Given the description of an element on the screen output the (x, y) to click on. 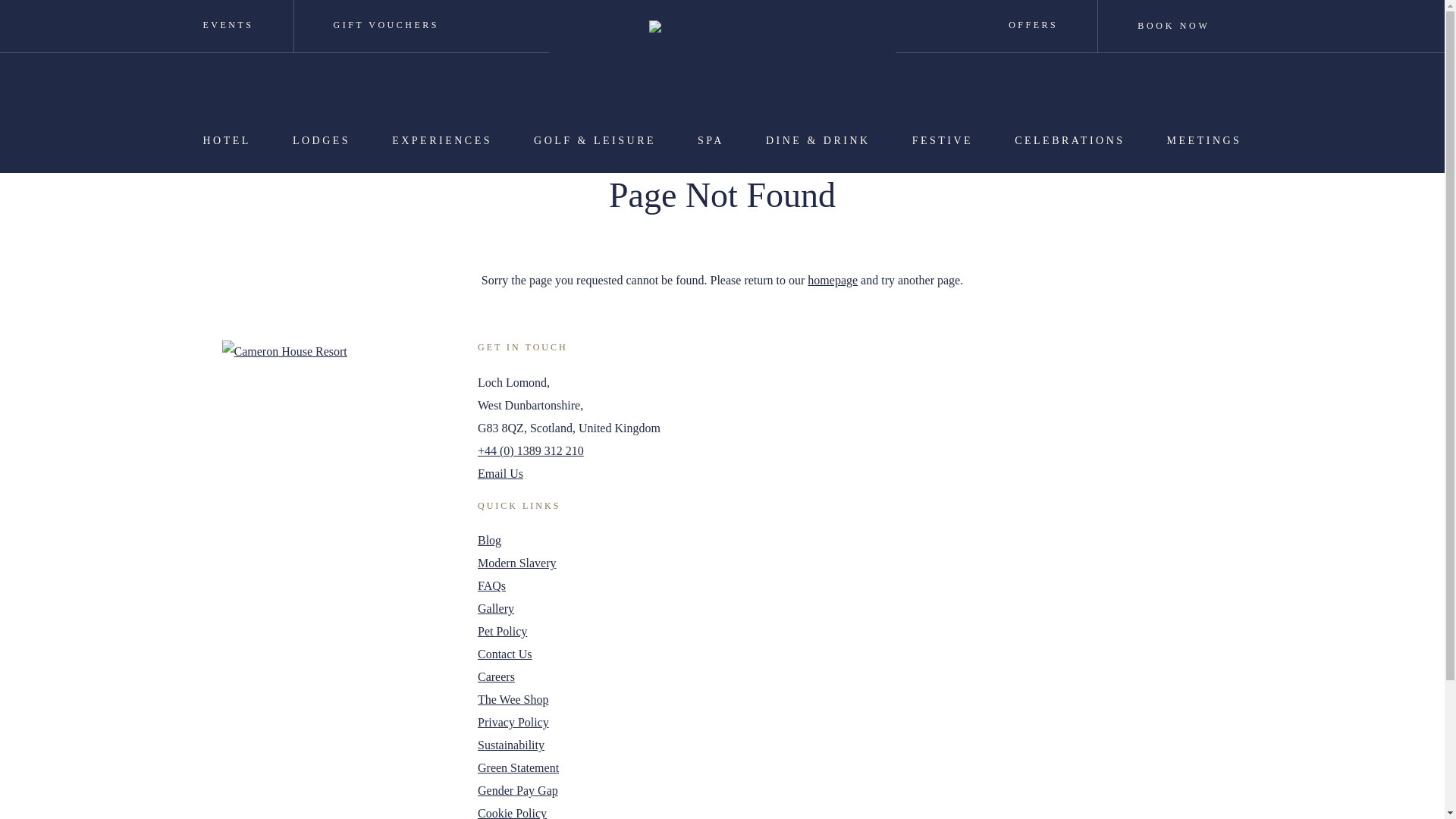
LODGES (321, 140)
HOTEL (226, 140)
EXPERIENCES (441, 140)
